Given the description of an element on the screen output the (x, y) to click on. 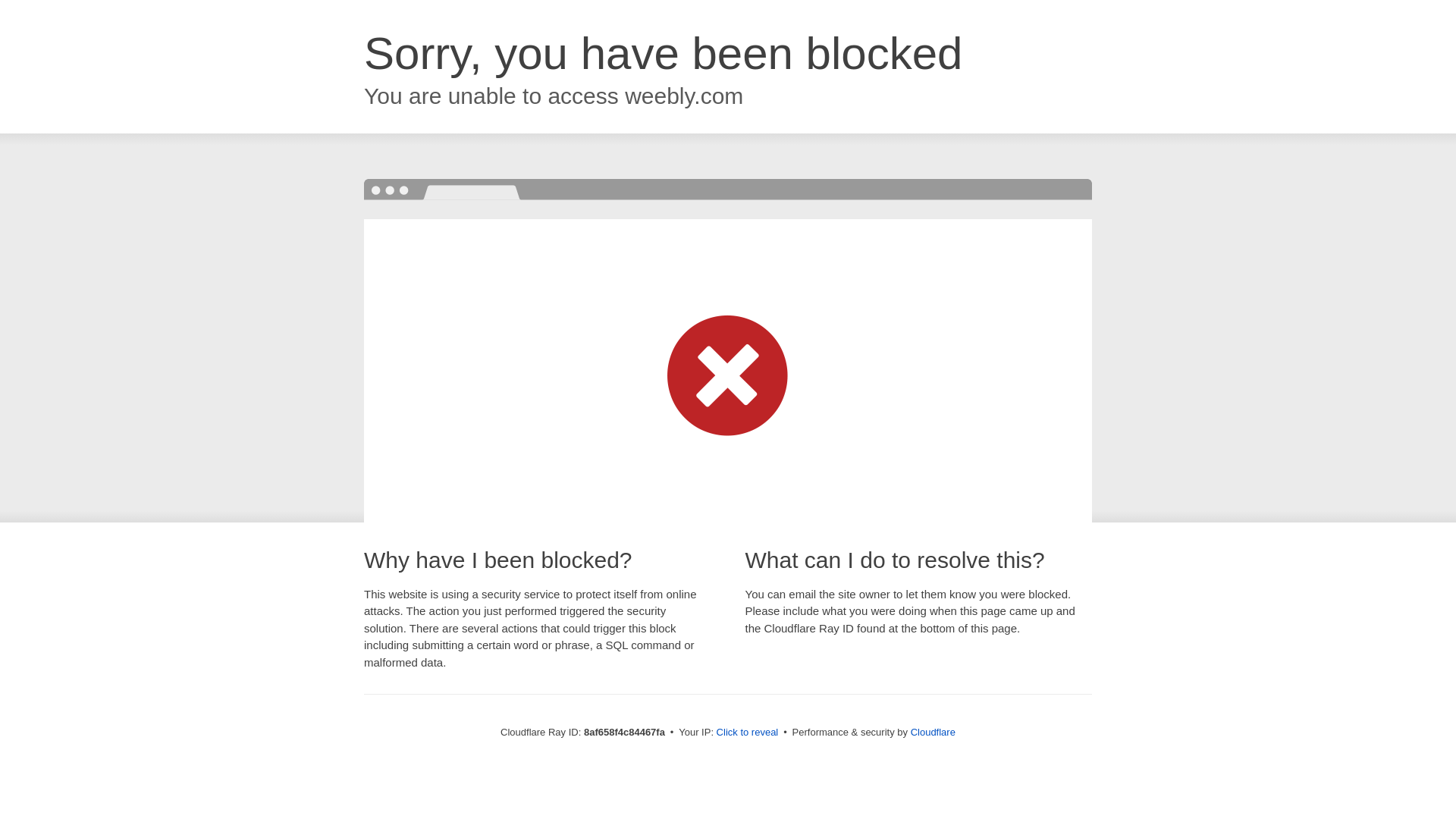
Click to reveal (747, 732)
Cloudflare (933, 731)
